Given the description of an element on the screen output the (x, y) to click on. 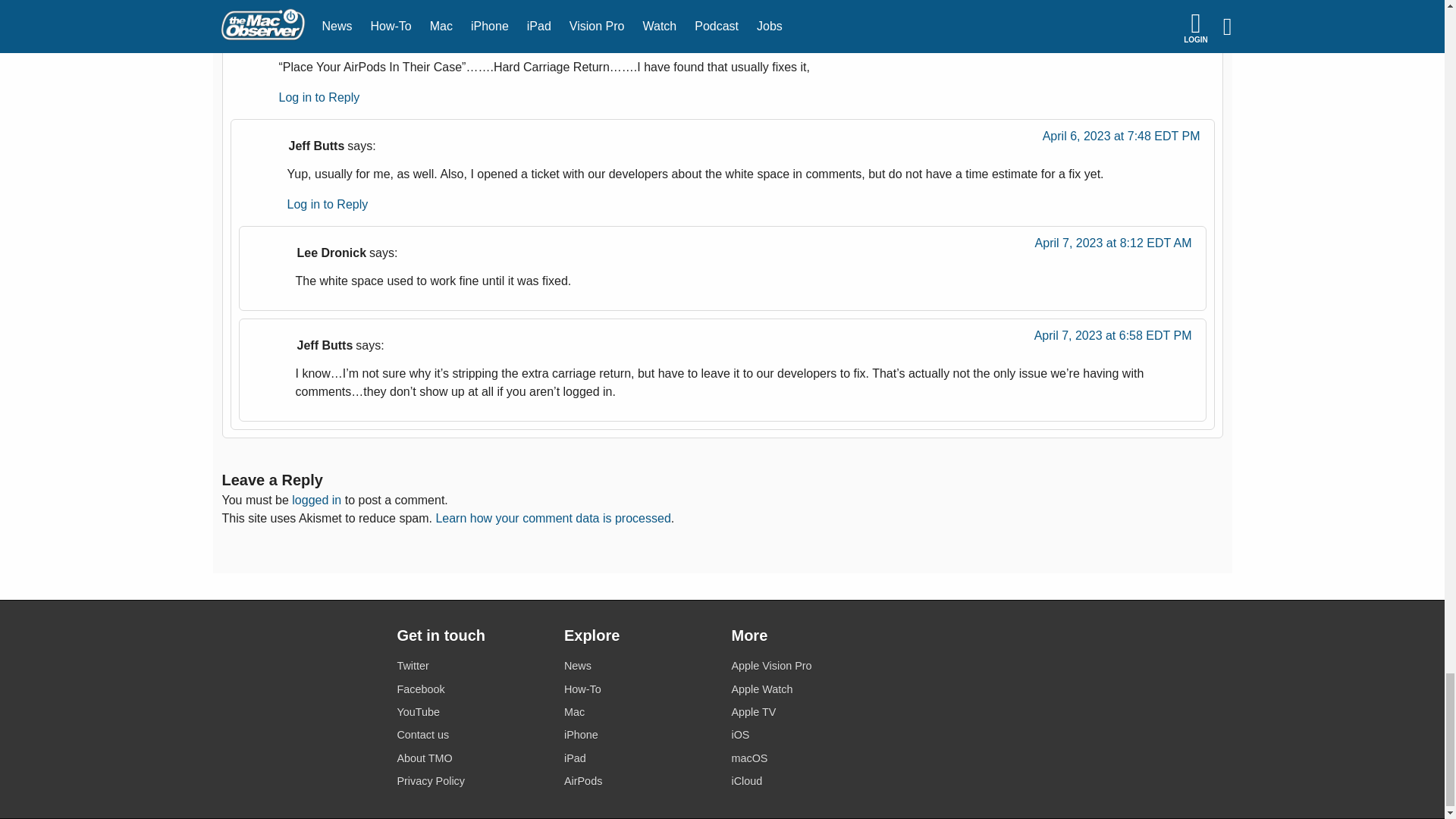
Log in to Reply (319, 97)
April 7, 2023 at 8:12 EDT AM (1113, 247)
logged in (316, 499)
April 7, 2023 at 6:58 EDT PM (1112, 339)
Log in to Reply (327, 204)
Twitter (471, 666)
April 6, 2023 at 7:48 EDT PM (1120, 140)
April 6, 2023 at 9:06 EDT AM (1129, 32)
Learn how your comment data is processed (552, 517)
